Given the description of an element on the screen output the (x, y) to click on. 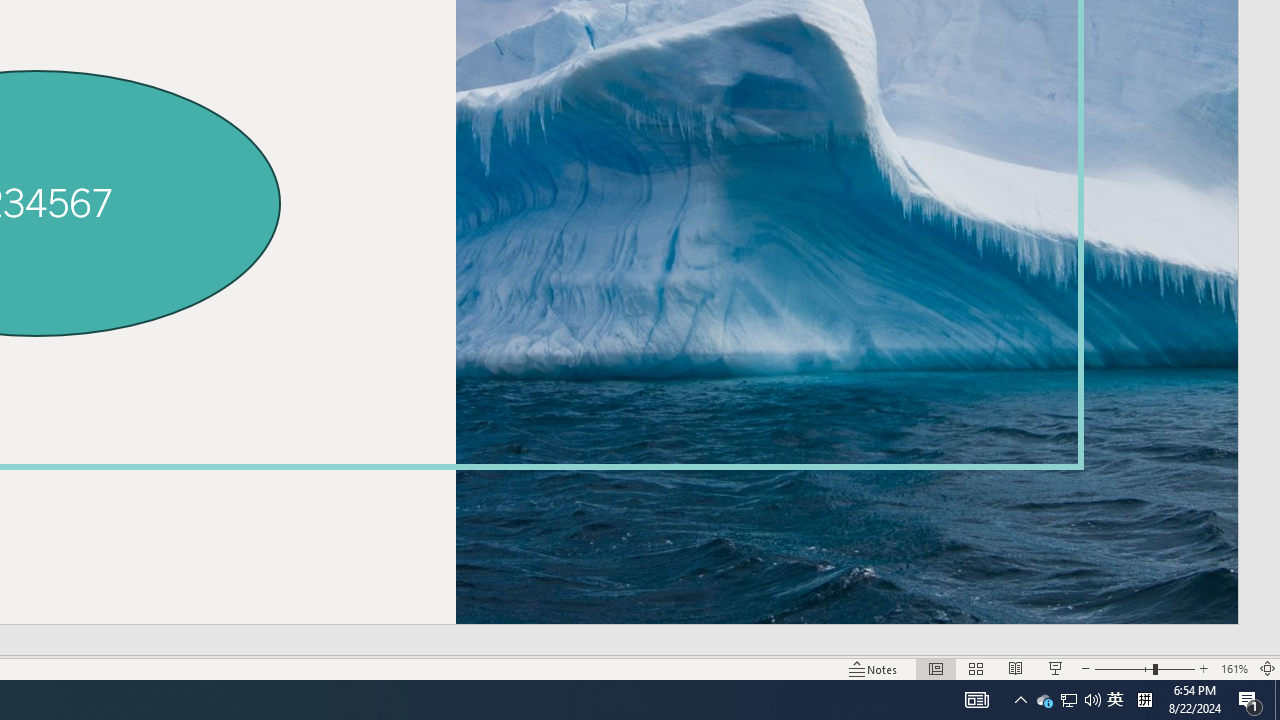
Zoom 161% (1234, 668)
